Given the description of an element on the screen output the (x, y) to click on. 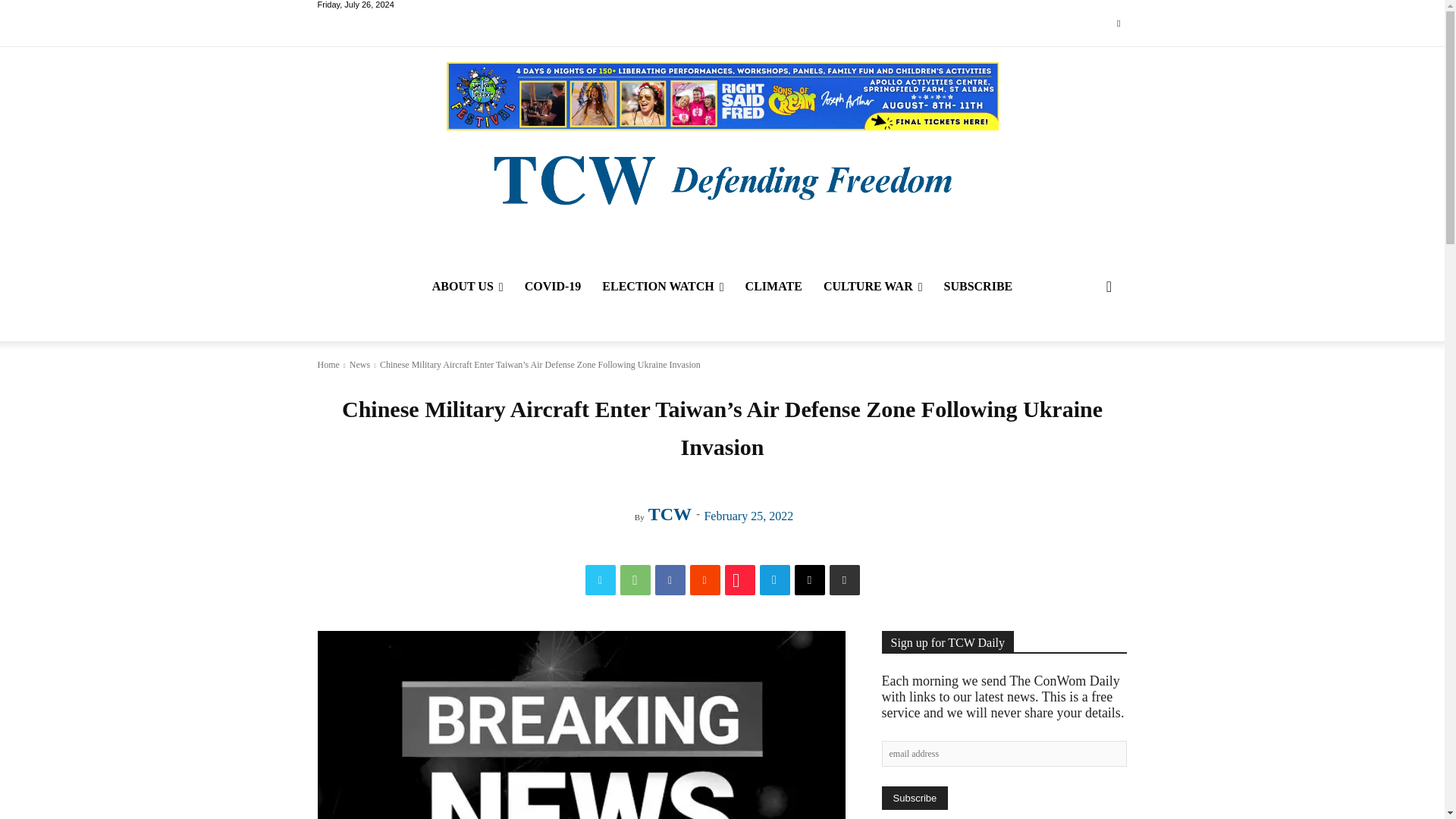
CLIMATE (773, 286)
ABOUT US (467, 286)
Facebook (670, 580)
Subscribe (913, 797)
Twitter (600, 580)
COVID-19 (552, 286)
View all posts in News (359, 364)
The Conservative Woman (721, 178)
ELECTION WATCH (662, 286)
Twitter (1117, 23)
WhatsApp (635, 580)
